Given the description of an element on the screen output the (x, y) to click on. 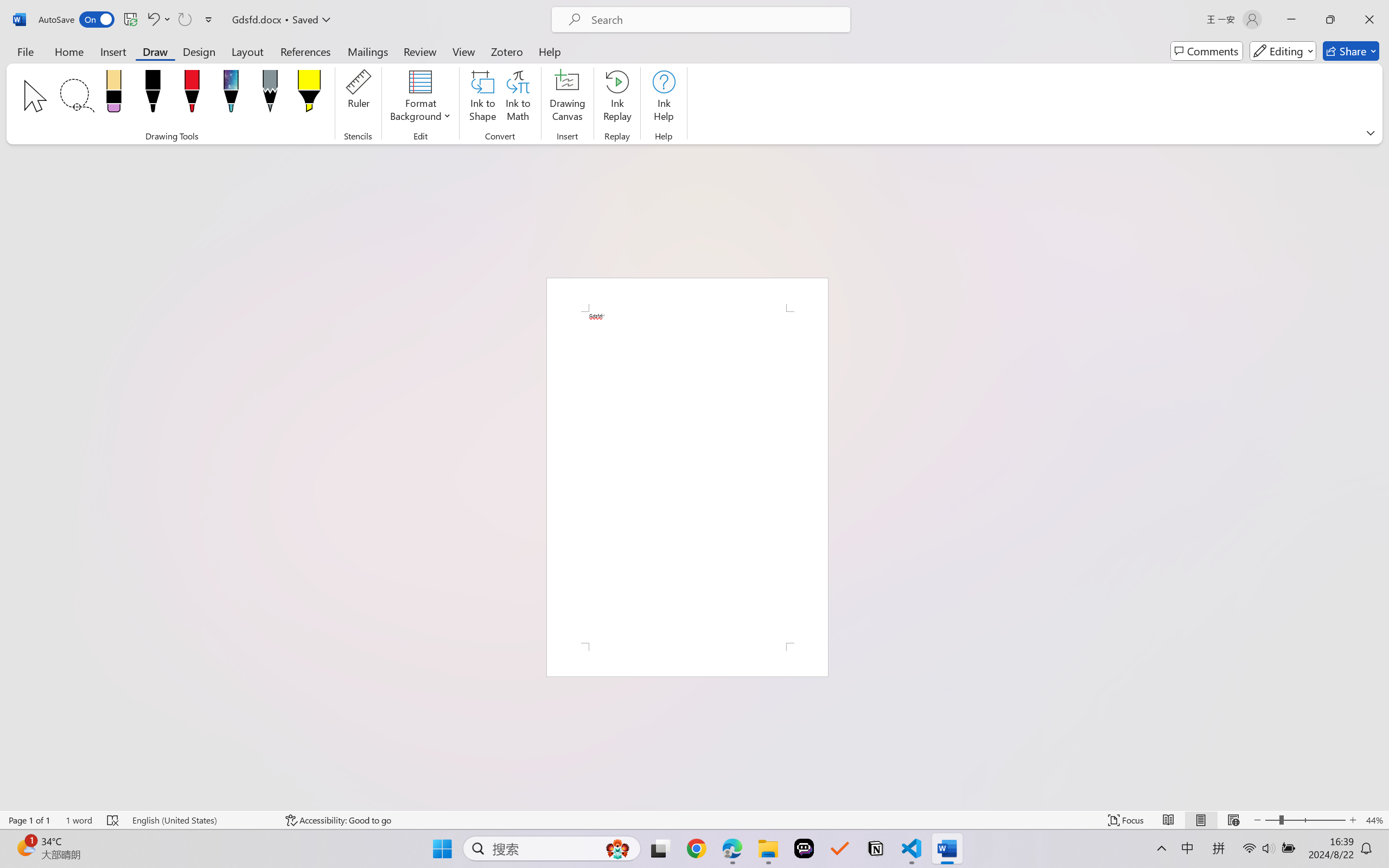
Ruler (358, 97)
Pencil: Gray, 1 mm (270, 94)
Ink Help (663, 97)
Drawing Canvas (567, 97)
